Given the description of an element on the screen output the (x, y) to click on. 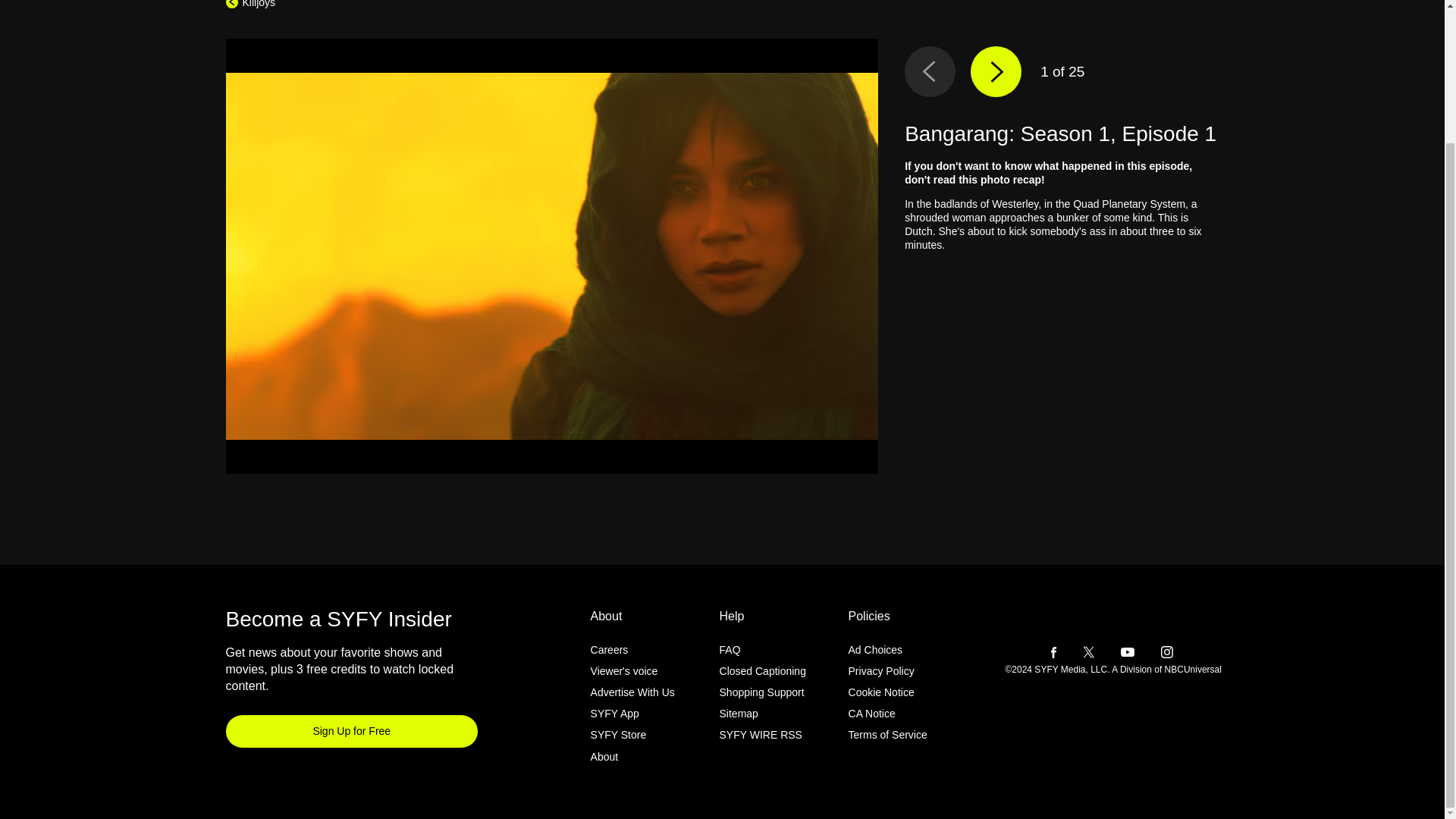
About (604, 756)
SYFY WIRE RSS (760, 734)
Killjoys (250, 4)
Closed Captioning (762, 671)
SYFY Store (618, 734)
Advertise With Us (633, 692)
Advertise With Us (633, 692)
Sitemap (738, 713)
Shopping Support (762, 692)
FAQ (730, 649)
